Given the description of an element on the screen output the (x, y) to click on. 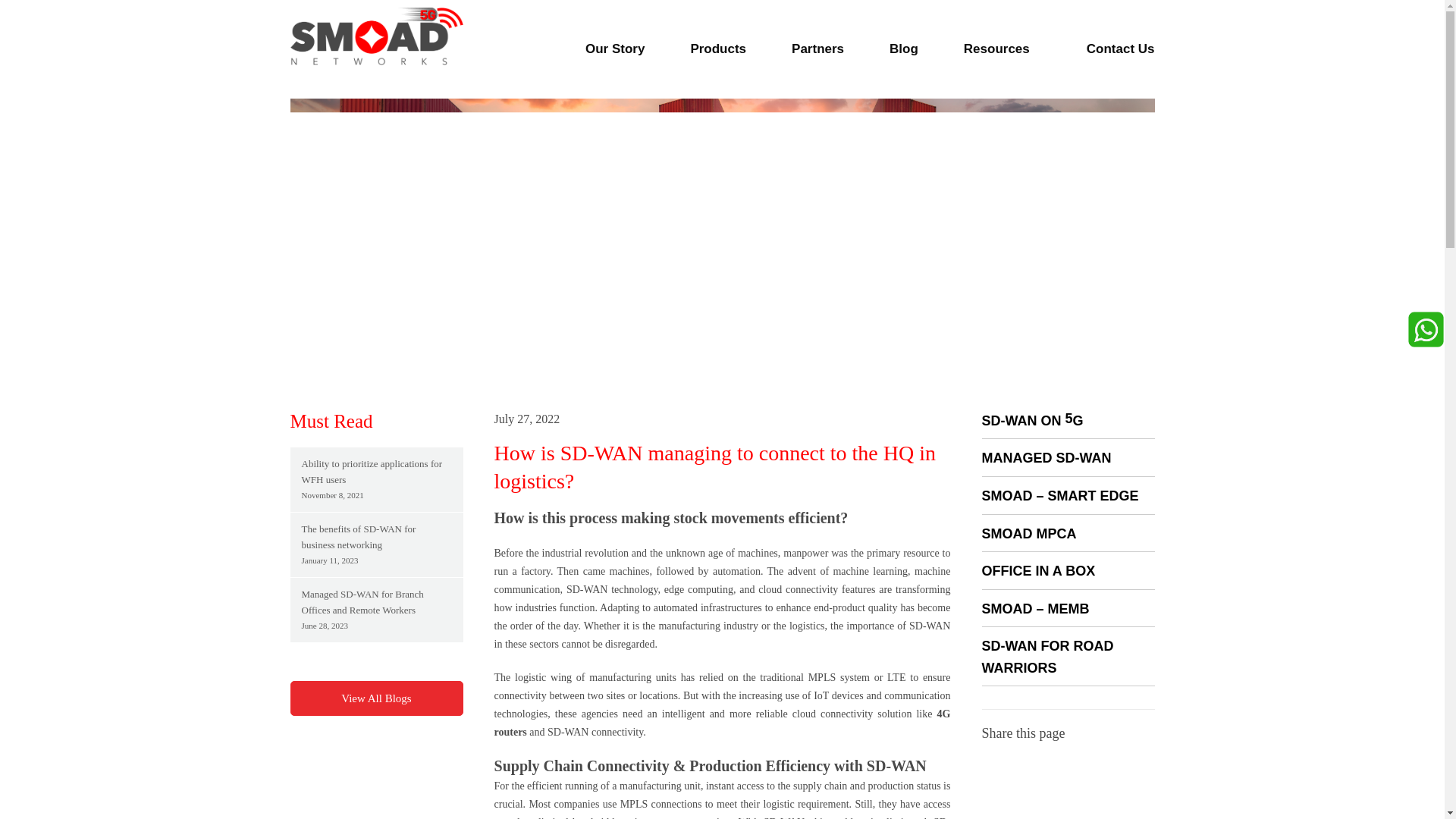
Partners (818, 49)
OFFICE IN A BOX (1037, 570)
Products (717, 49)
View All Blogs (376, 697)
SMOAD MPCA (1028, 533)
SD-WAN FOR ROAD WARRIORS (1047, 656)
Resources (1002, 49)
Contact Us (1120, 49)
